Given the description of an element on the screen output the (x, y) to click on. 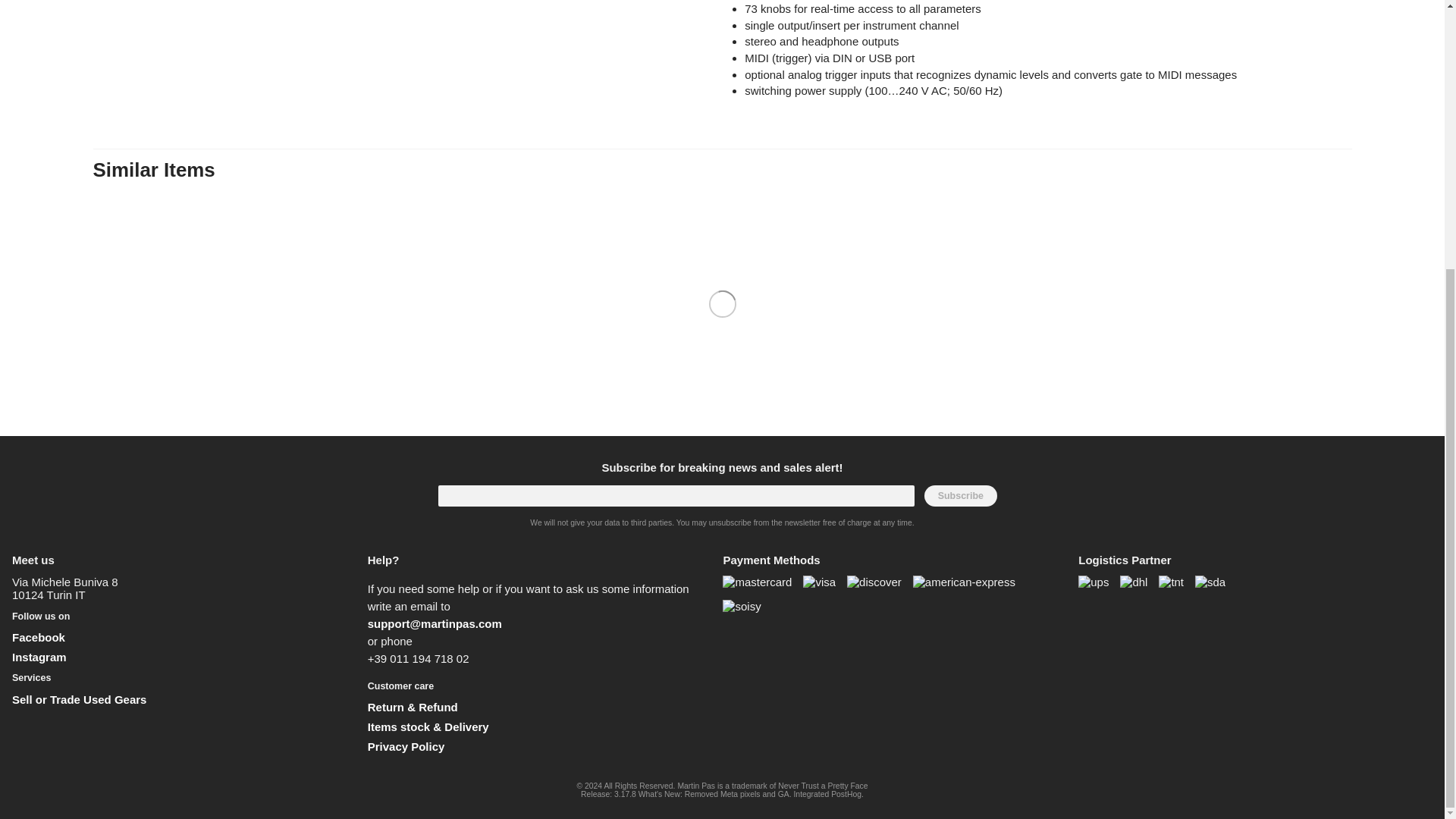
Privacy Policy (406, 746)
Instagram (38, 656)
Facebook (38, 636)
Sell or Trade Used Gears (79, 698)
Subscribe (960, 495)
